Given the description of an element on the screen output the (x, y) to click on. 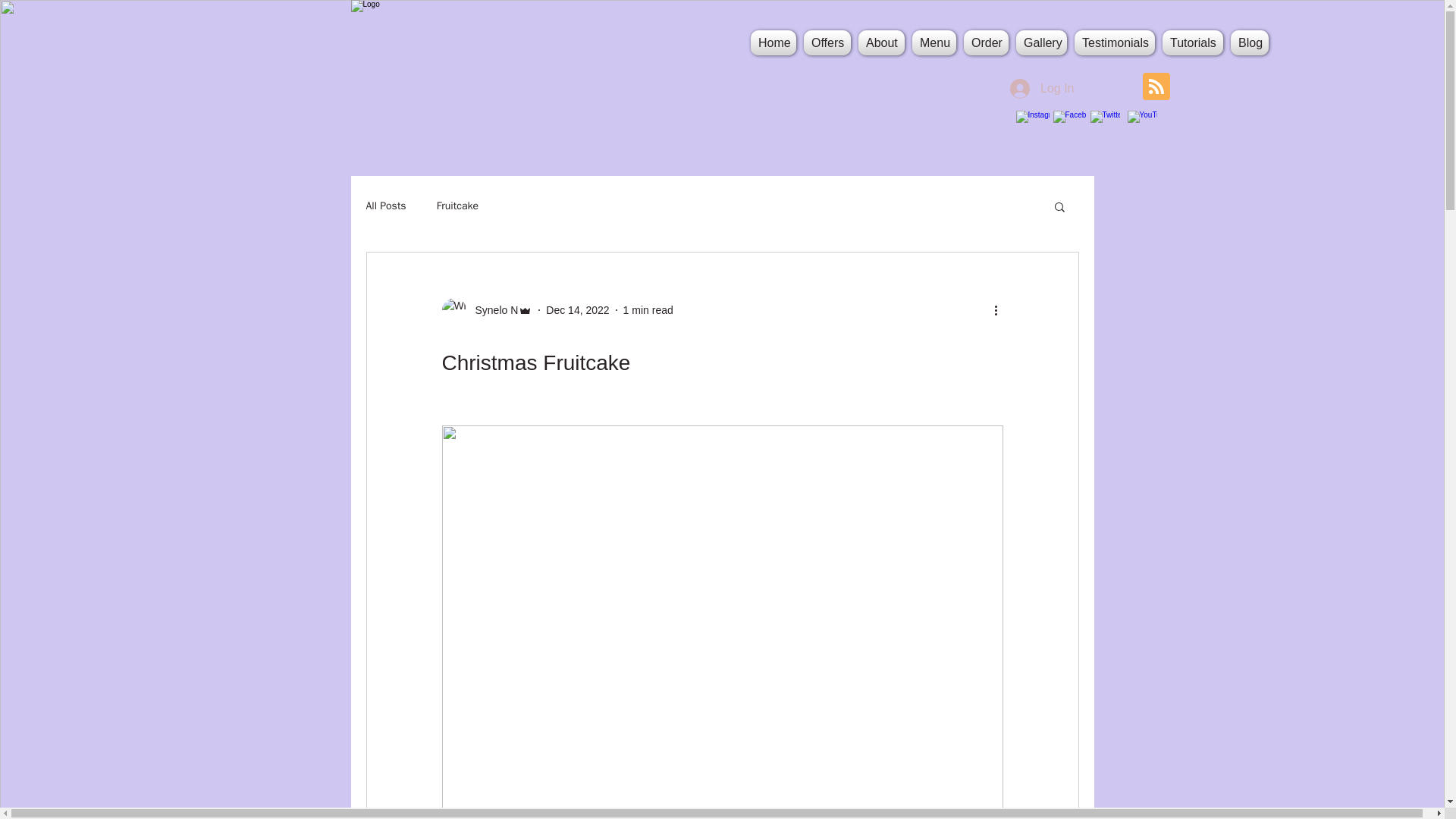
Offers (826, 42)
Testimonials (1114, 42)
Synelo N (486, 310)
Tutorials (1192, 42)
Home (772, 42)
Menu (933, 42)
Dec 14, 2022 (577, 309)
All Posts (385, 205)
Gallery (1040, 42)
Order (985, 42)
